Given the description of an element on the screen output the (x, y) to click on. 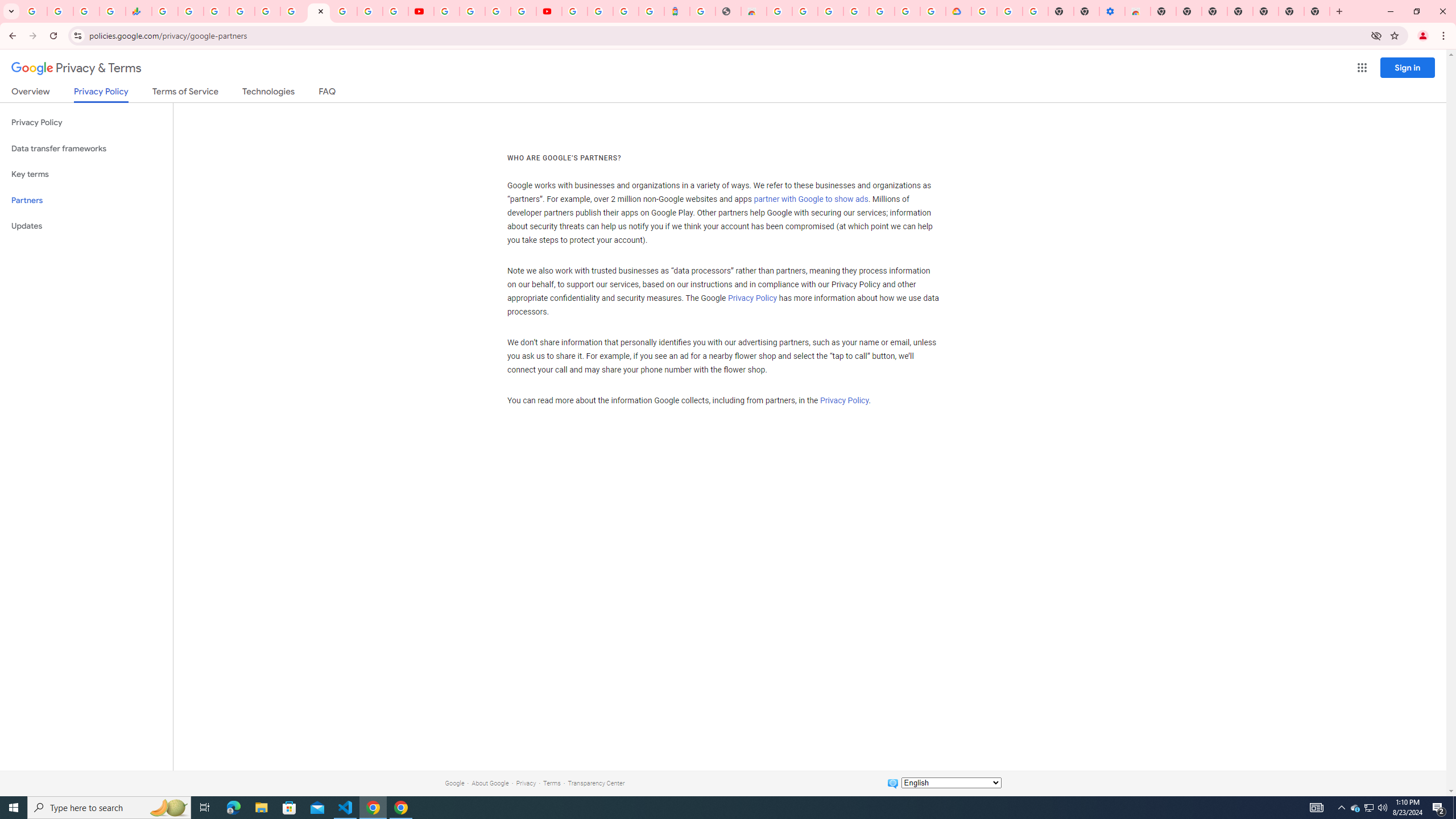
Sign in - Google Accounts (983, 11)
